Given the description of an element on the screen output the (x, y) to click on. 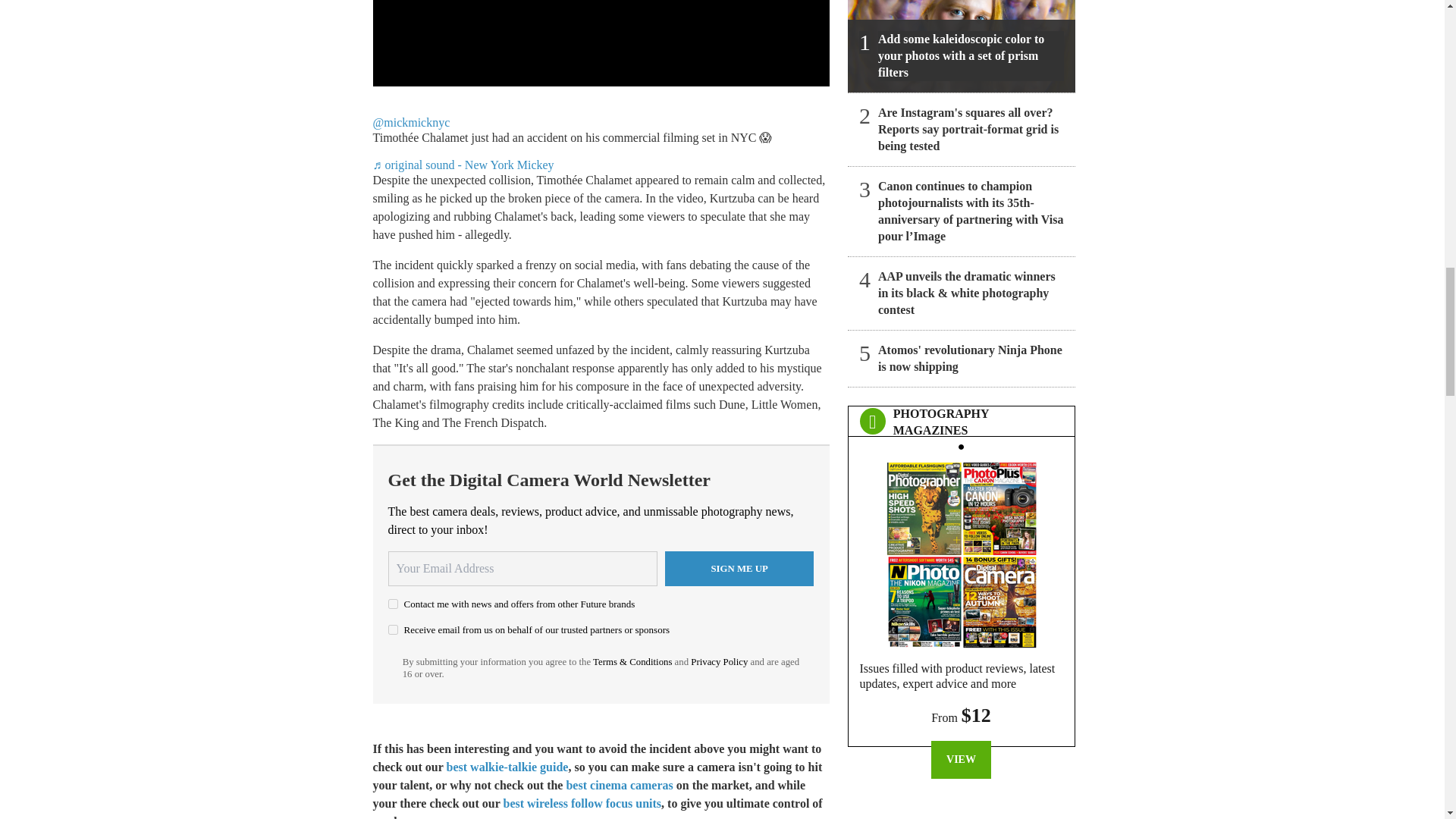
on (392, 603)
Sign me up (739, 568)
Photography Magazines (960, 551)
on (392, 629)
